Given the description of an element on the screen output the (x, y) to click on. 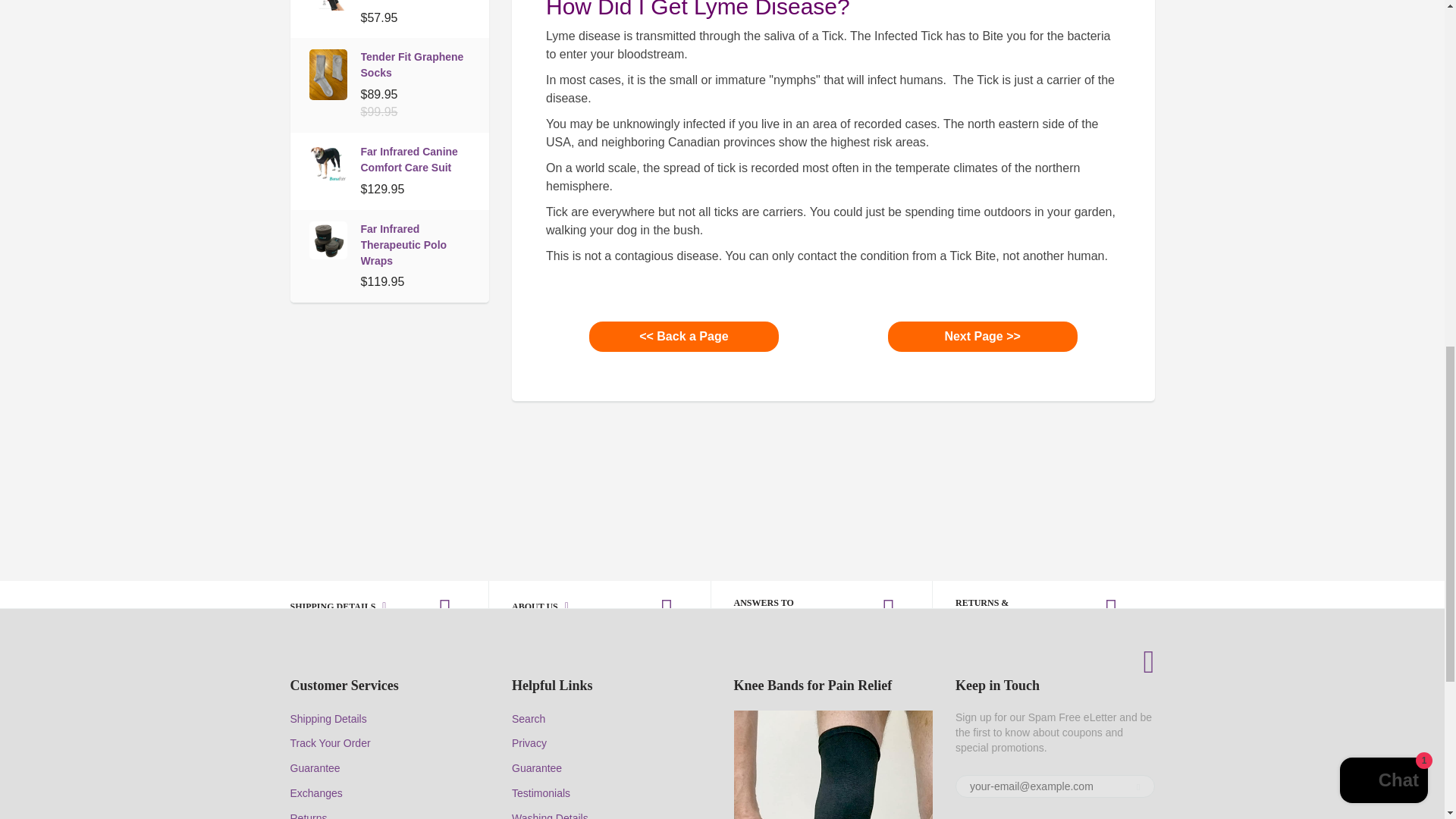
Treatment of Lyme Disease (982, 336)
Symptoms of  Lyme Disease (683, 336)
